Given the description of an element on the screen output the (x, y) to click on. 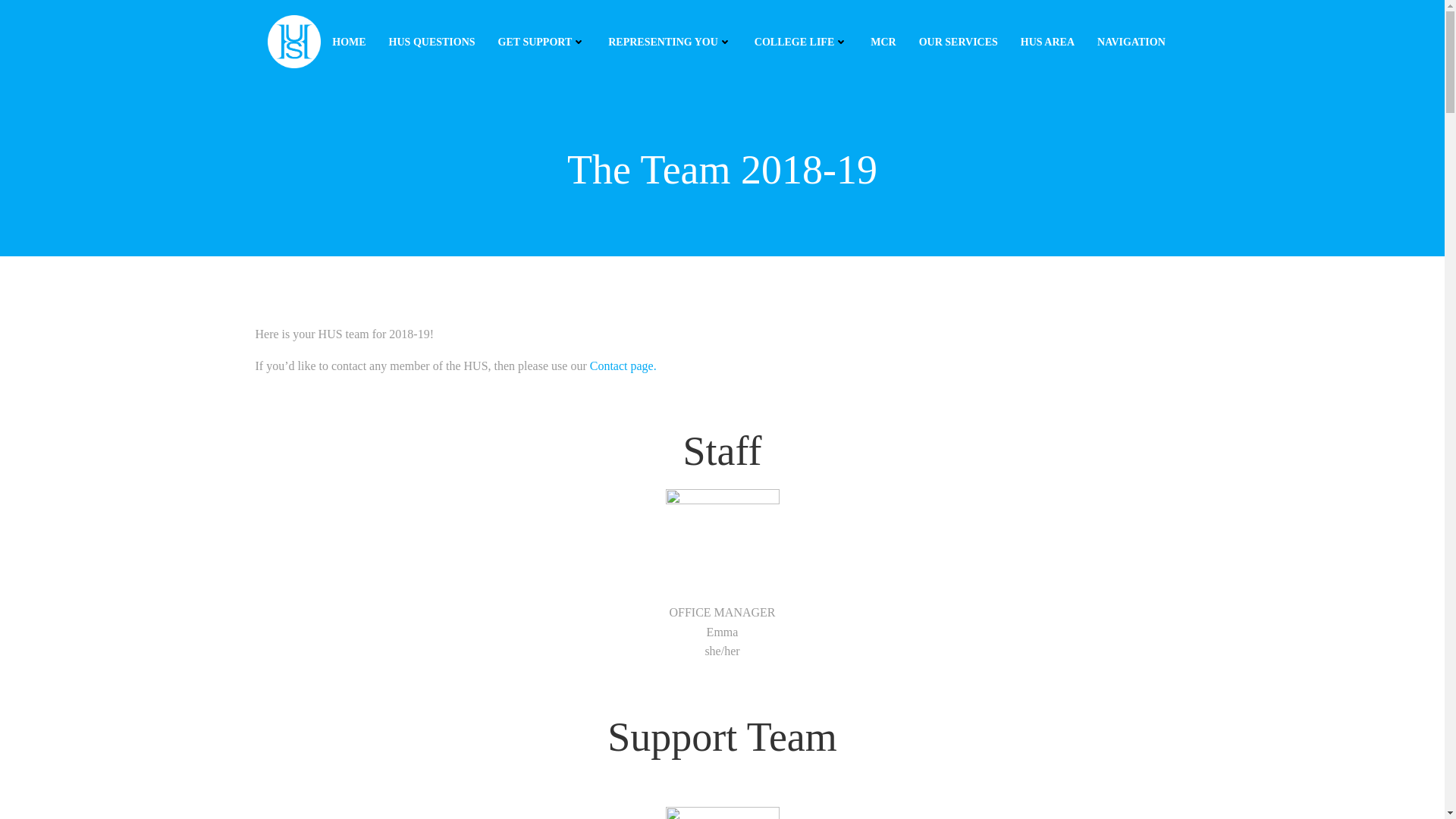
COLLEGE LIFE (800, 41)
HUS QUESTIONS (432, 41)
HOME (348, 41)
GET SUPPORT (541, 41)
REPRESENTING YOU (670, 41)
